Given the description of an element on the screen output the (x, y) to click on. 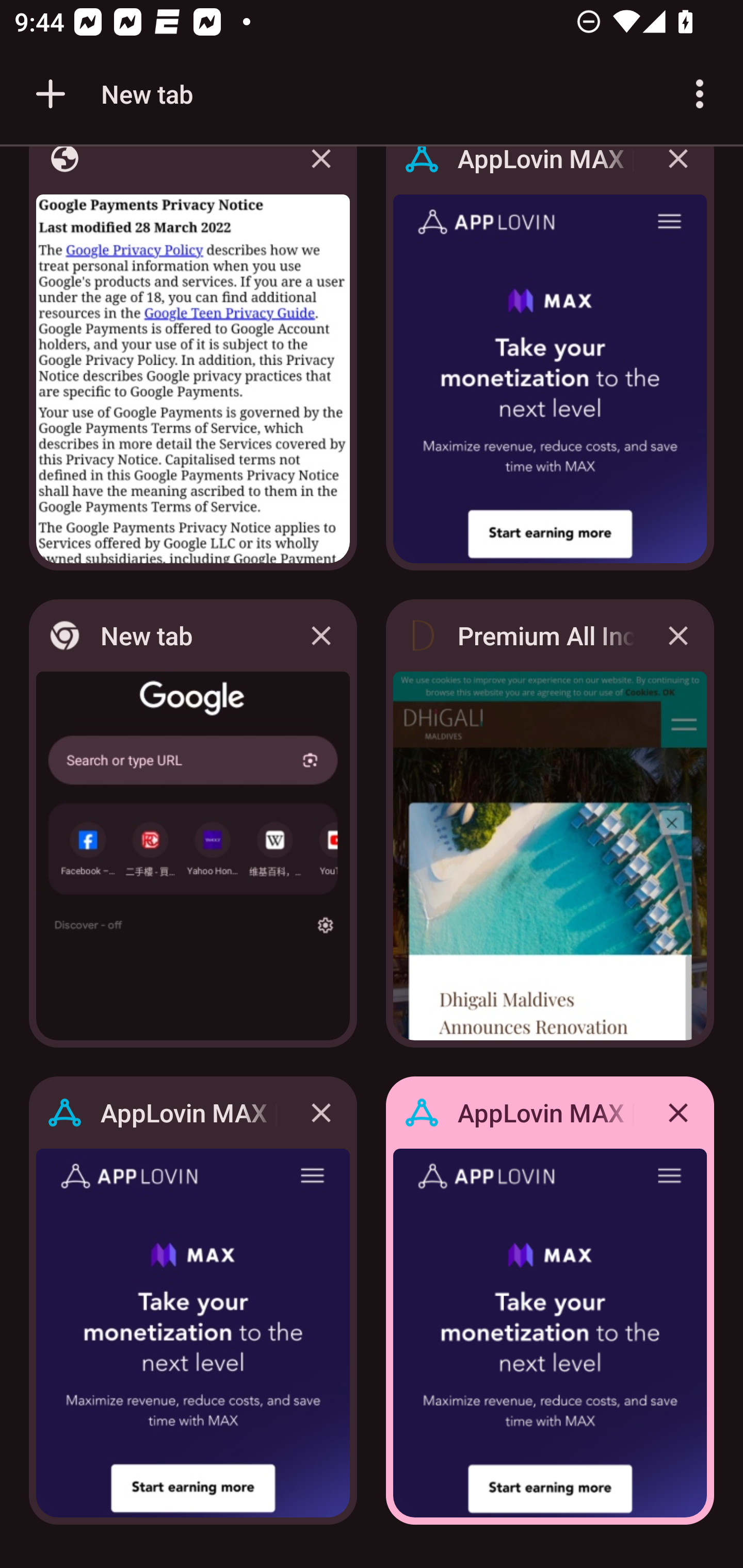
New tab (111, 93)
Customize and control Google Chrome (699, 93)
, tab Close  tab (192, 364)
Close  tab (320, 173)
New tab New tab, tab Close New tab tab (192, 822)
Close New tab tab (320, 635)
